Given the description of an element on the screen output the (x, y) to click on. 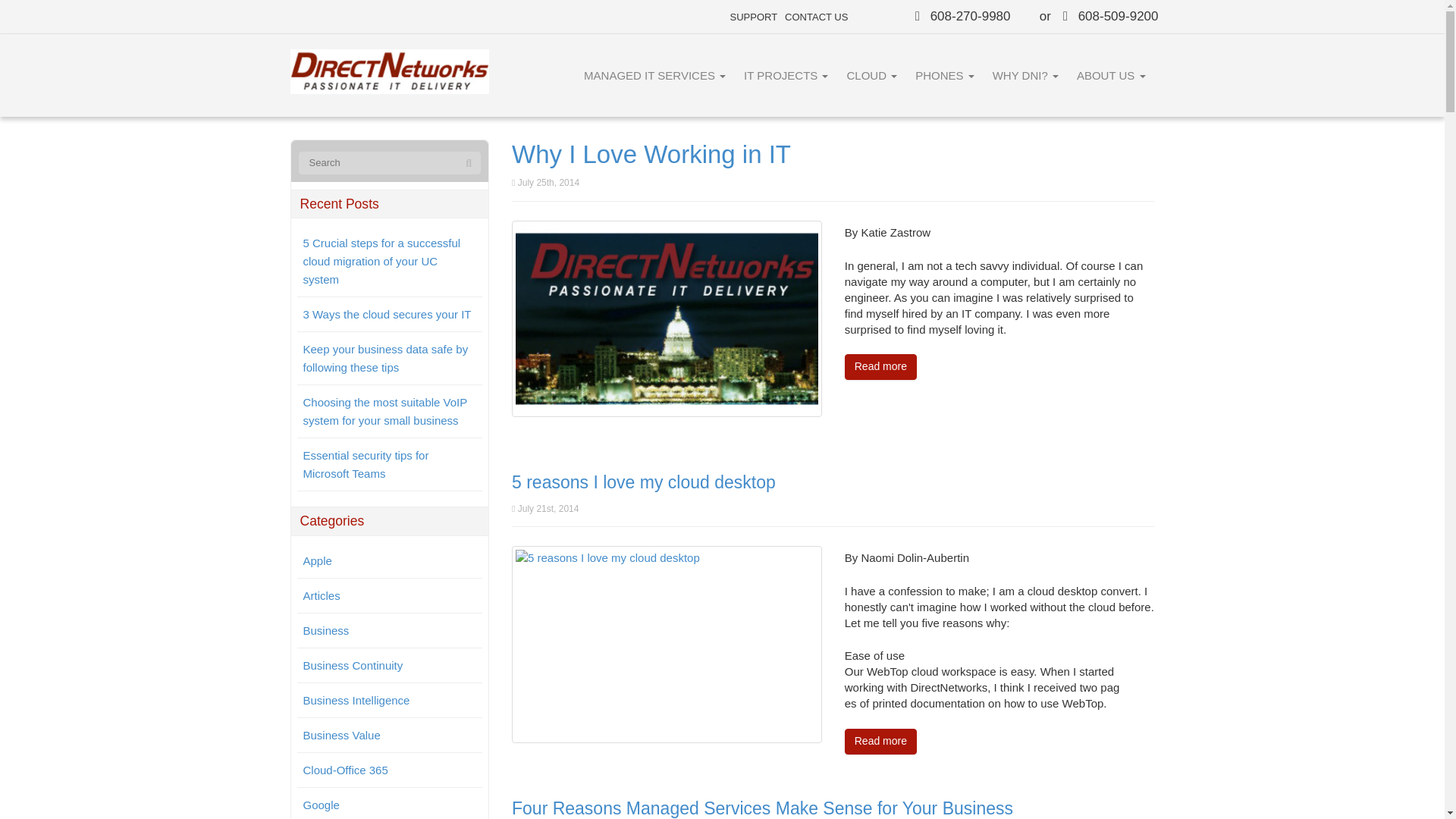
WHY DNI? (1025, 75)
SUPPORT (753, 16)
CONTACT US (815, 16)
PHONES (944, 75)
5 reasons I love my cloud desktop (644, 482)
5 reasons I love my cloud desktop (667, 643)
Four Reasons Managed Services Make Sense for Your Business (762, 808)
Why I Love Working in IT (667, 318)
MANAGED IT SERVICES (655, 75)
Why I Love Working in IT (651, 154)
IT PROJECTS (786, 75)
